Given the description of an element on the screen output the (x, y) to click on. 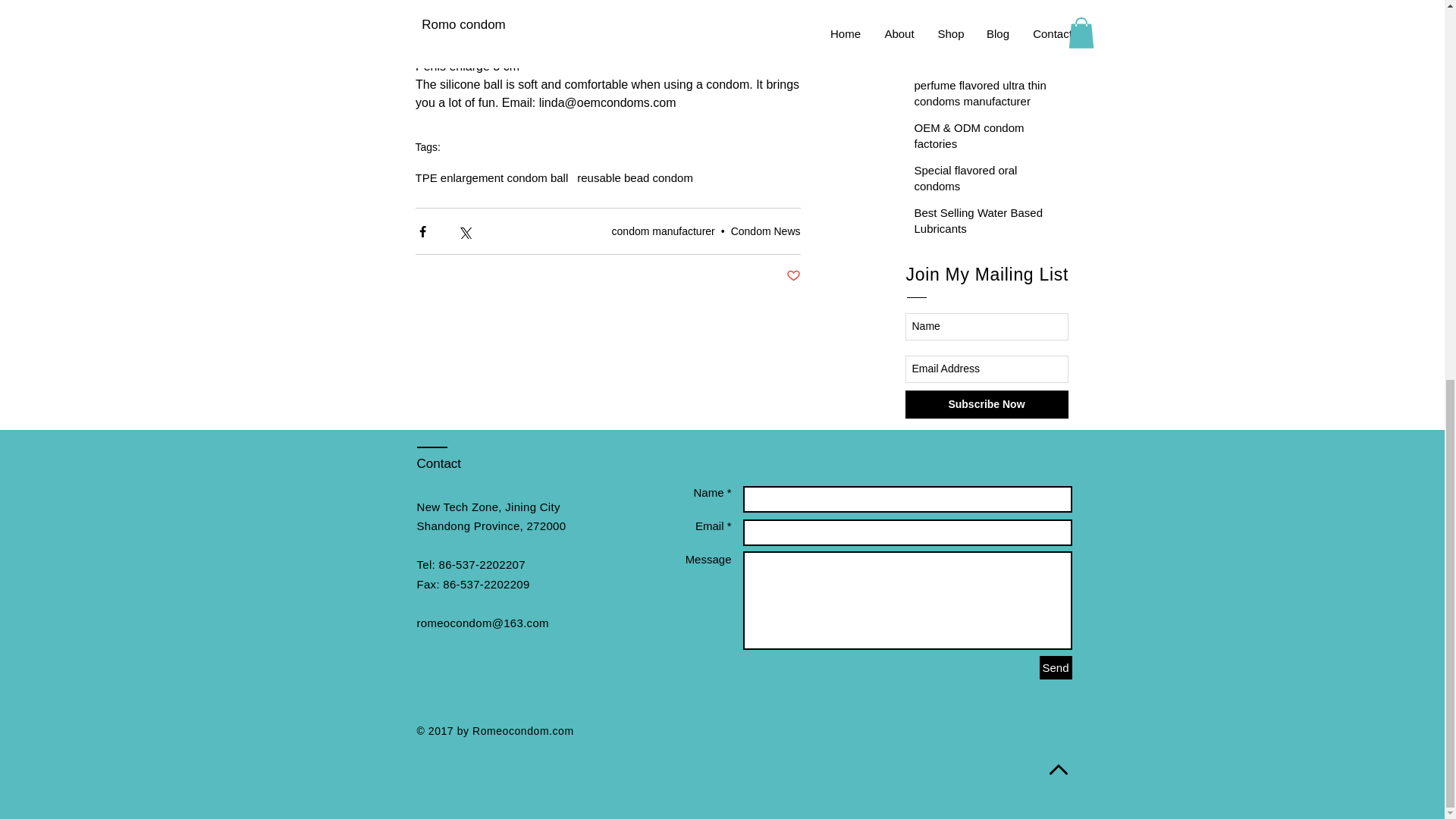
reusable bead condom (634, 177)
Special flavored oral condoms (982, 180)
Send (1055, 667)
super dotted and ribbed condom (982, 15)
Subscribe Now (986, 404)
Post not marked as liked (792, 276)
Condom News (765, 231)
Aesthetics Appeal and Benefits of black colored condom (982, 61)
perfume flavored ultra thin condoms manufacturer (982, 95)
Best Selling Water Based Lubricants (982, 223)
TPE enlargement condom ball (491, 177)
condom manufacturer (662, 231)
